Given the description of an element on the screen output the (x, y) to click on. 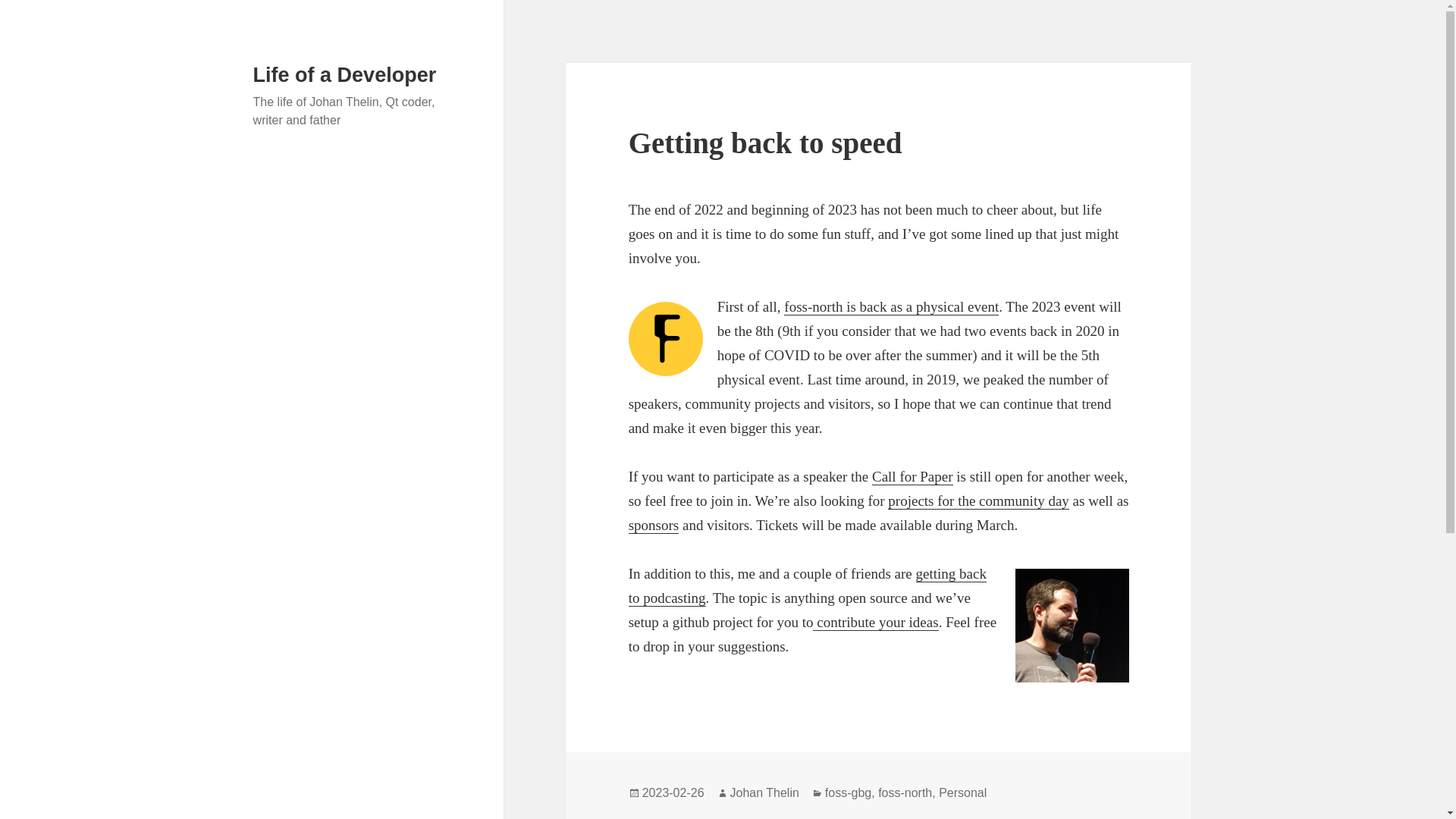
Johan Thelin (764, 793)
2023-02-26 (673, 793)
foss-north (904, 793)
Personal (963, 793)
Life of a Developer (344, 74)
foss-north is back as a physical event (891, 306)
foss-gbg (847, 793)
contribute your ideas (874, 622)
projects for the community day (978, 501)
getting back to podcasting (807, 585)
